Given the description of an element on the screen output the (x, y) to click on. 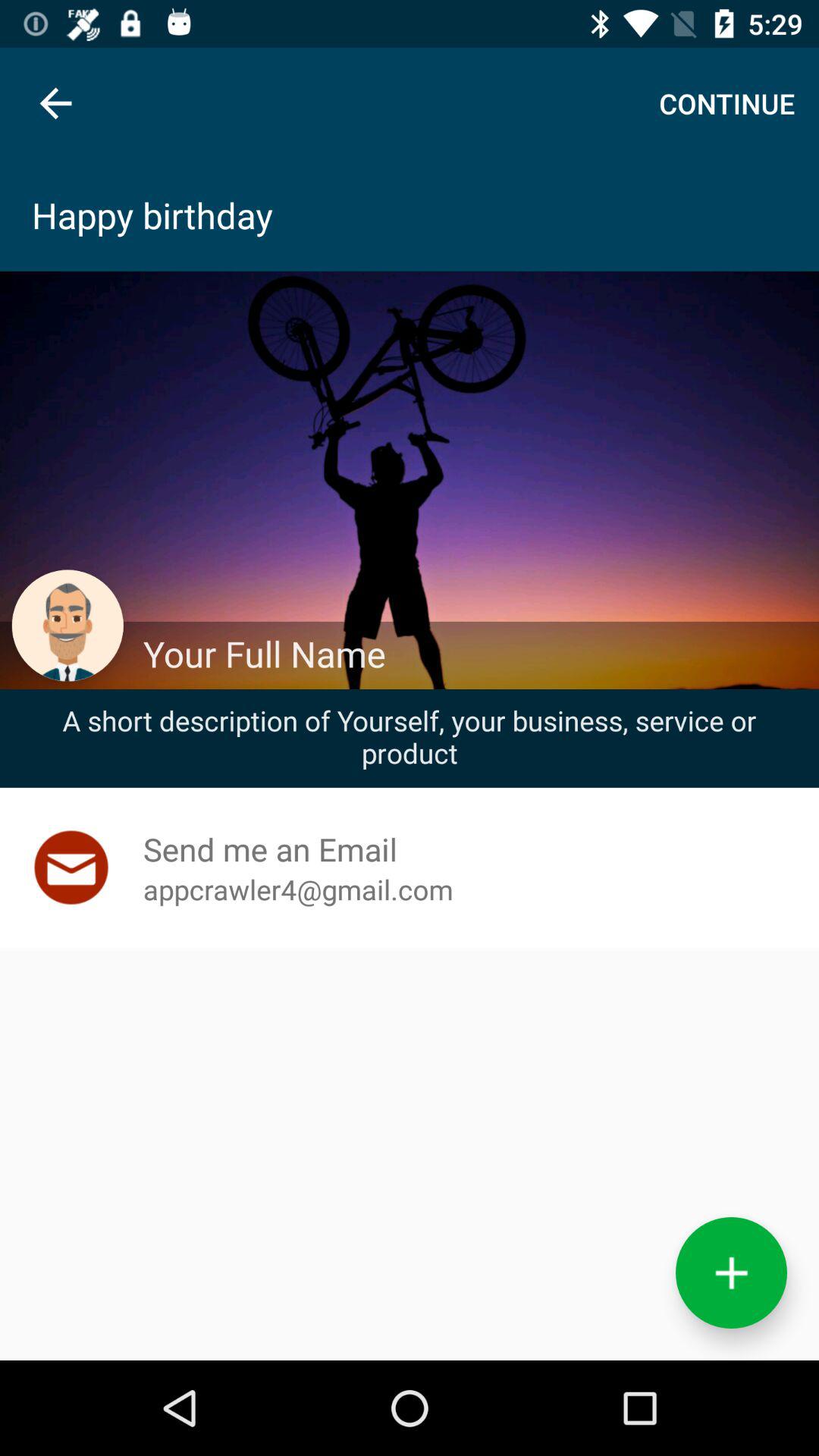
swipe to the your full name (473, 653)
